Given the description of an element on the screen output the (x, y) to click on. 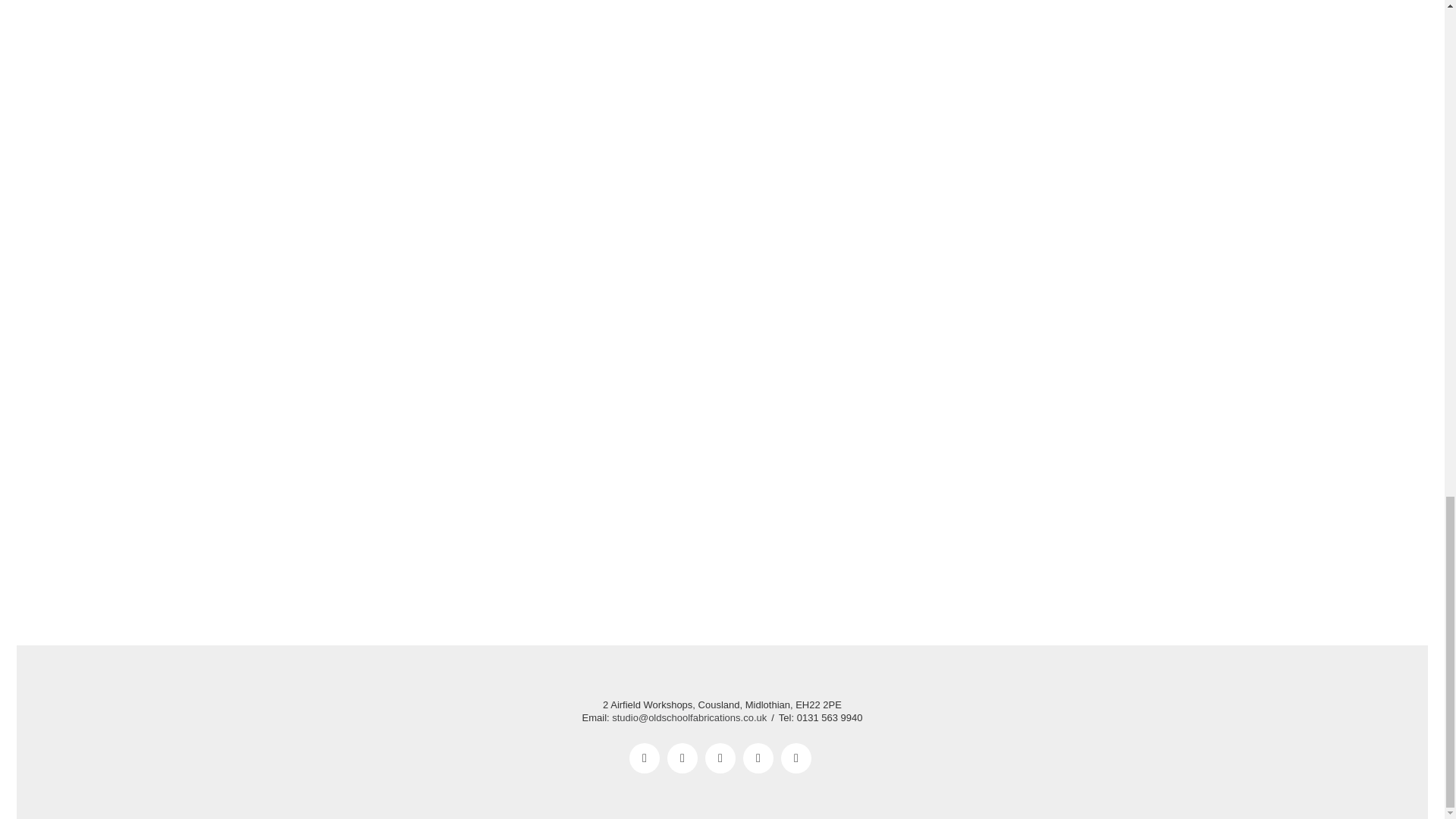
LinkedIn (757, 757)
Twitter (681, 757)
Pinterest (795, 757)
Instagram (719, 757)
Facebook (643, 757)
